Given the description of an element on the screen output the (x, y) to click on. 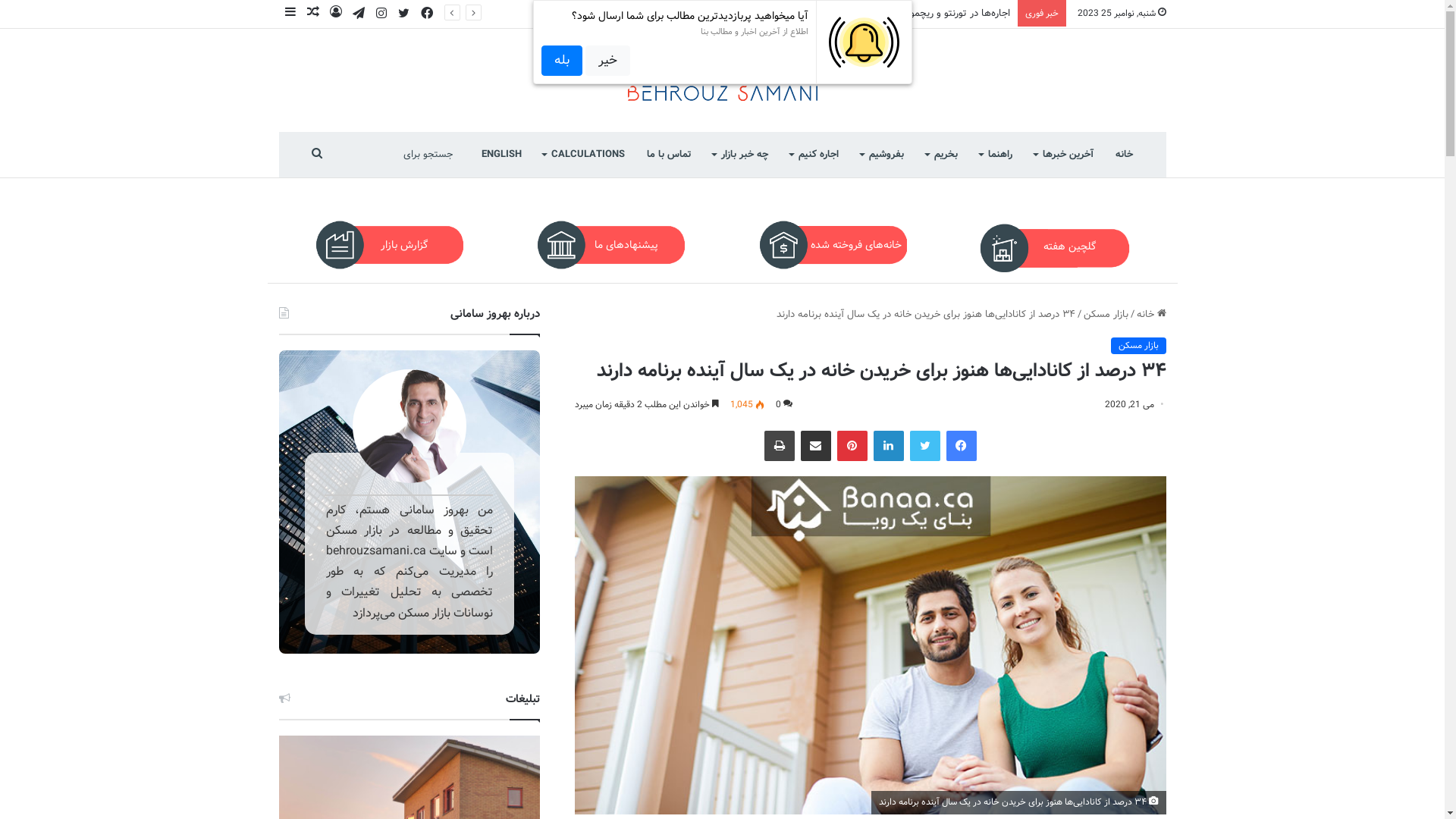
ENGLISH Element type: text (500, 154)
CALCULATIONS Element type: text (584, 154)
